Given the description of an element on the screen output the (x, y) to click on. 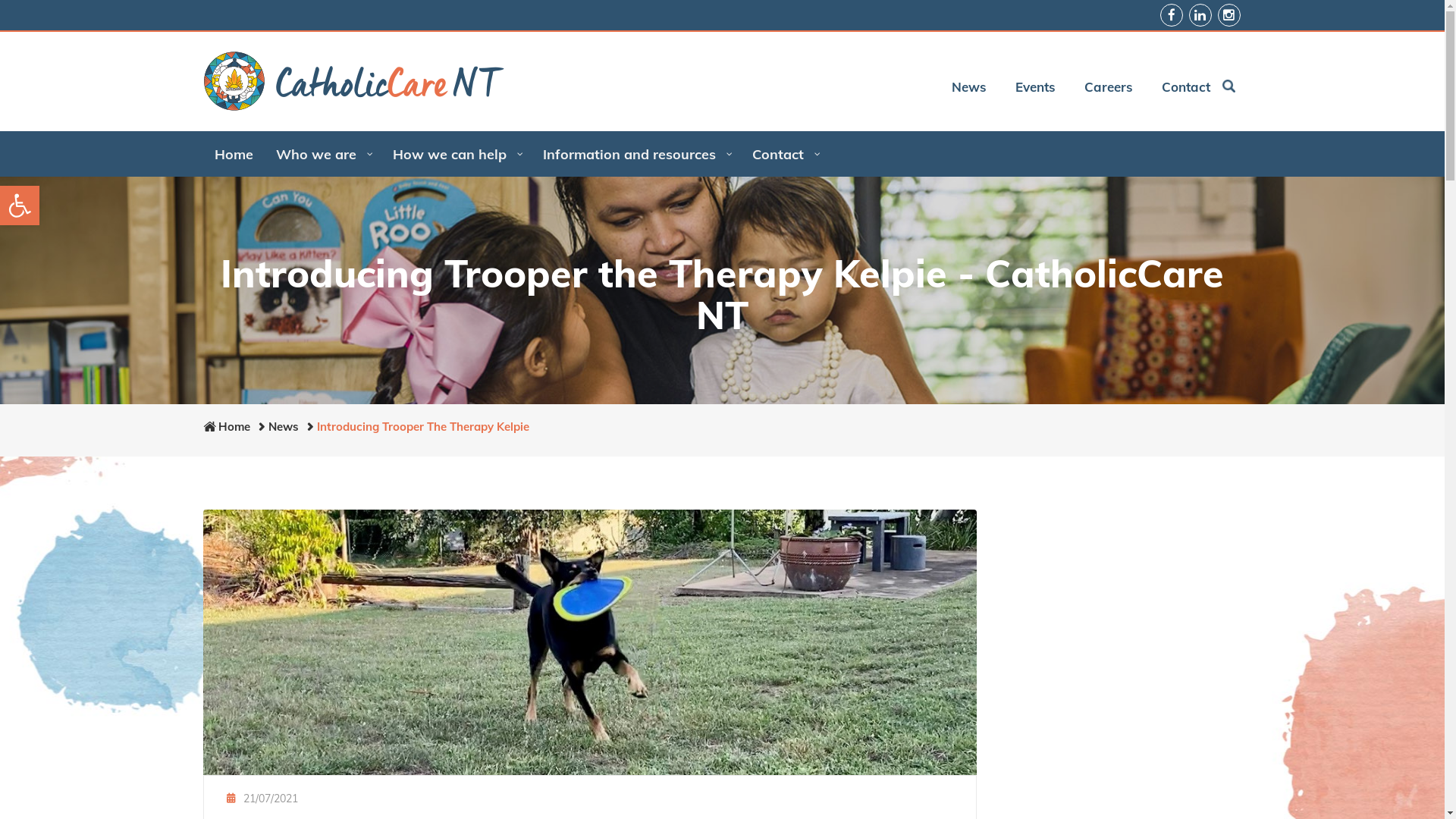
Contact Element type: text (1180, 86)
Information and resources Element type: text (635, 153)
Who we are Element type: text (321, 153)
Contact Element type: text (784, 153)
Events Element type: text (1029, 86)
Salonika Element type: hover (354, 80)
News Element type: text (283, 426)
Home Element type: text (233, 153)
How we can help Element type: text (455, 153)
Open toolbar
Accessibility Tools Element type: text (19, 205)
News Element type: text (962, 86)
Home Element type: text (234, 426)
Careers Element type: text (1102, 86)
